Given the description of an element on the screen output the (x, y) to click on. 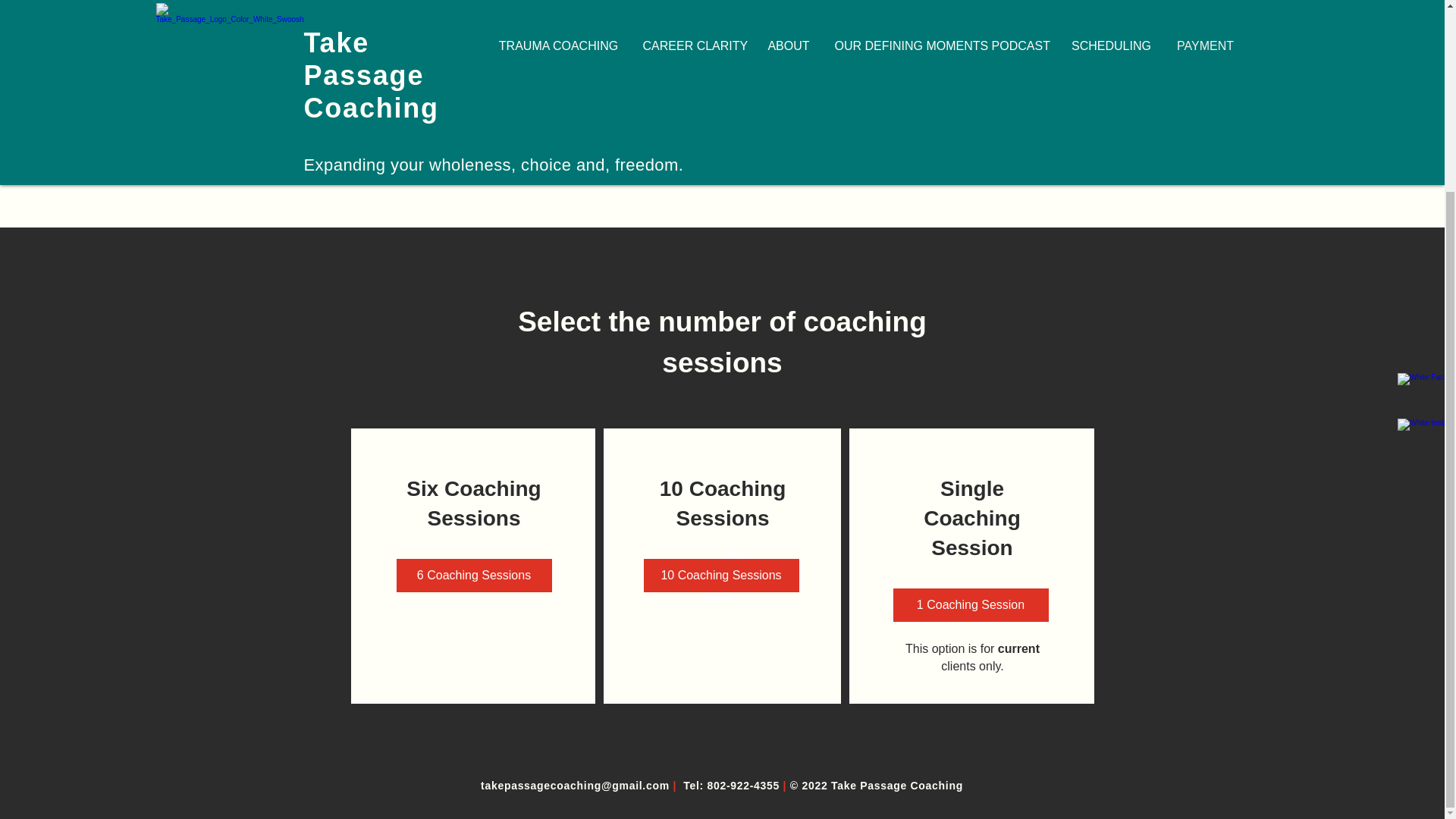
6 Coaching Sessions (473, 575)
1 Coaching Session (970, 604)
10 Coaching Sessions (720, 575)
